Given the description of an element on the screen output the (x, y) to click on. 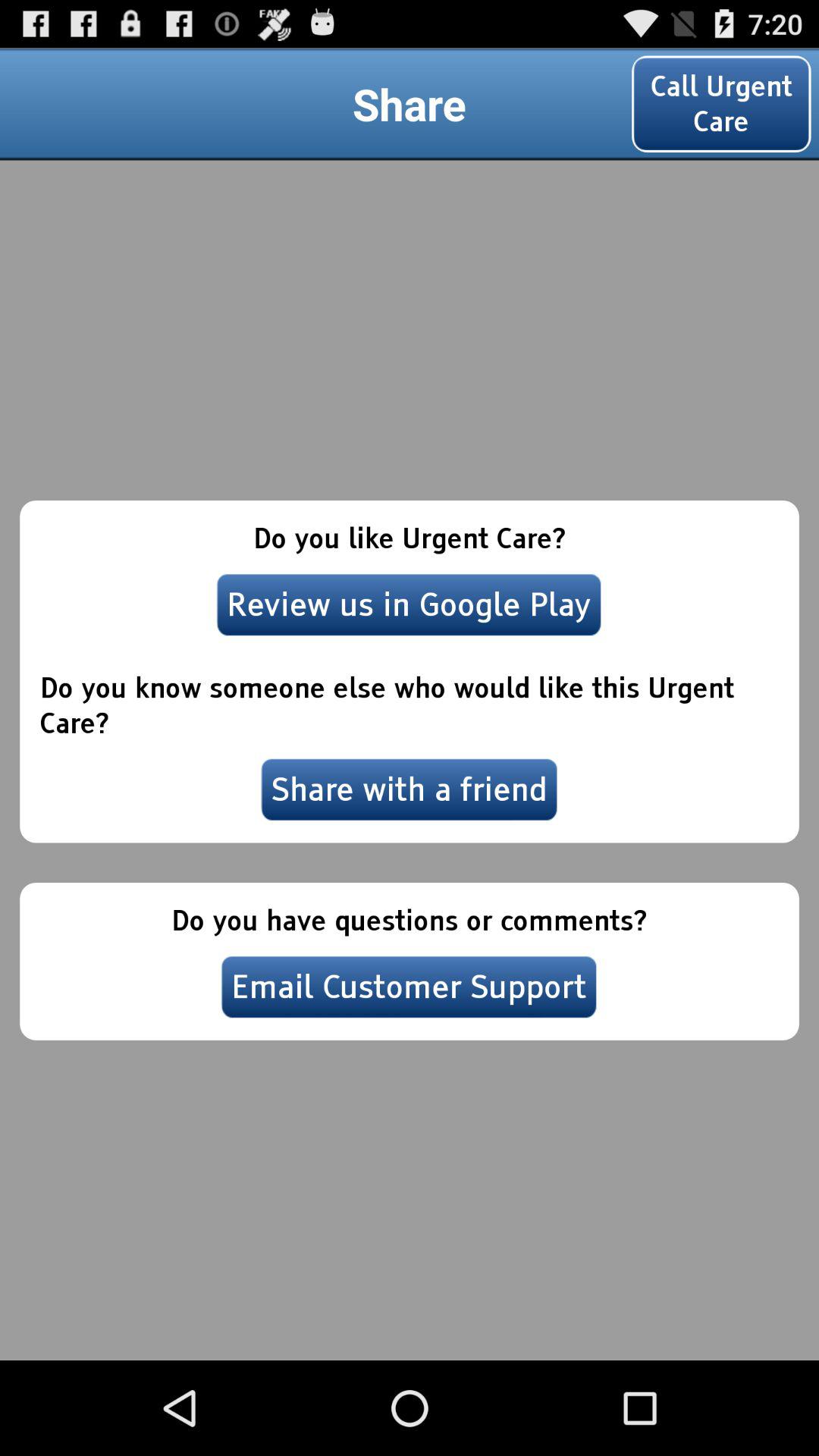
turn off share with a (409, 789)
